Given the description of an element on the screen output the (x, y) to click on. 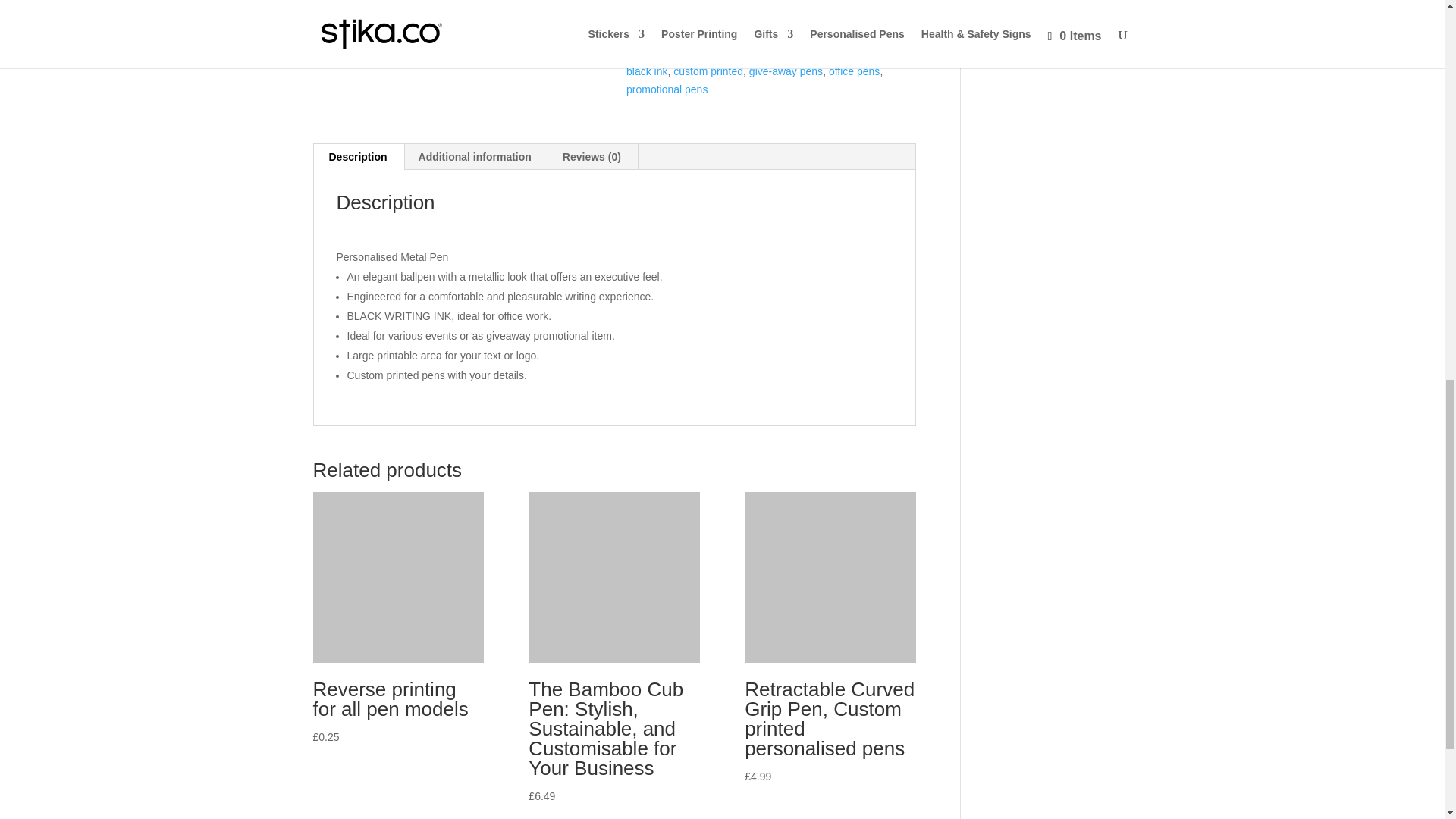
1 (653, 4)
